Given the description of an element on the screen output the (x, y) to click on. 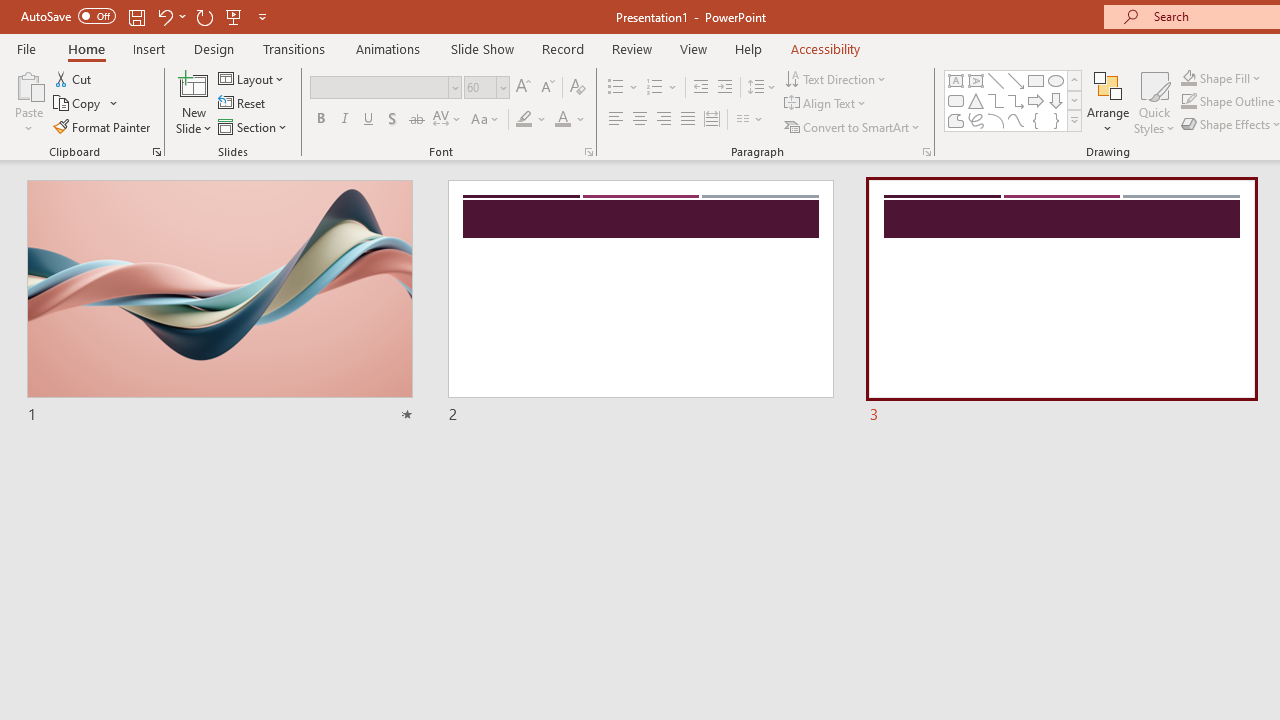
Shape Fill Orange, Accent 2 (1188, 78)
